Given the description of an element on the screen output the (x, y) to click on. 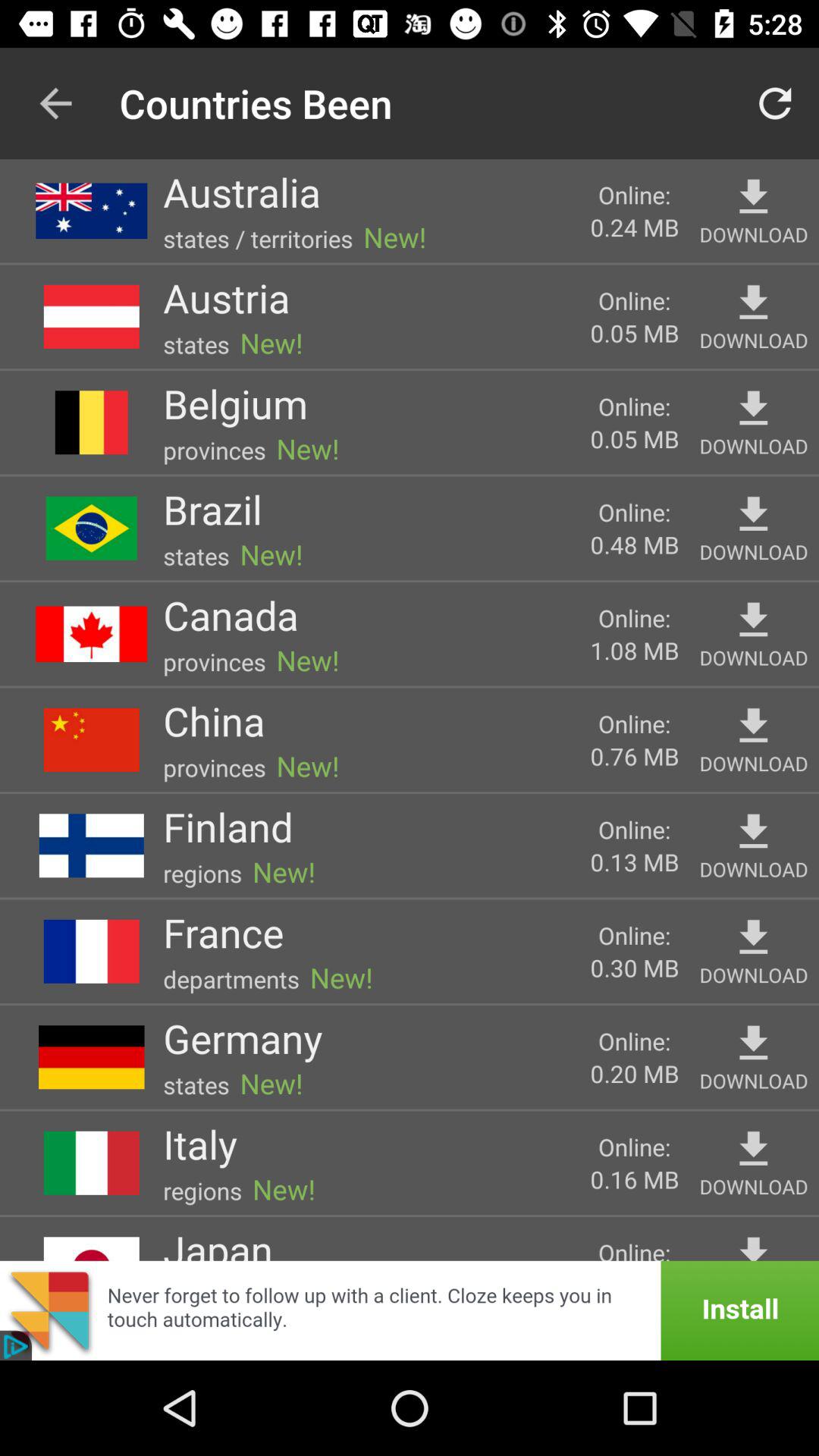
select the item to the left of the 0.20 mb item (242, 1037)
